Given the description of an element on the screen output the (x, y) to click on. 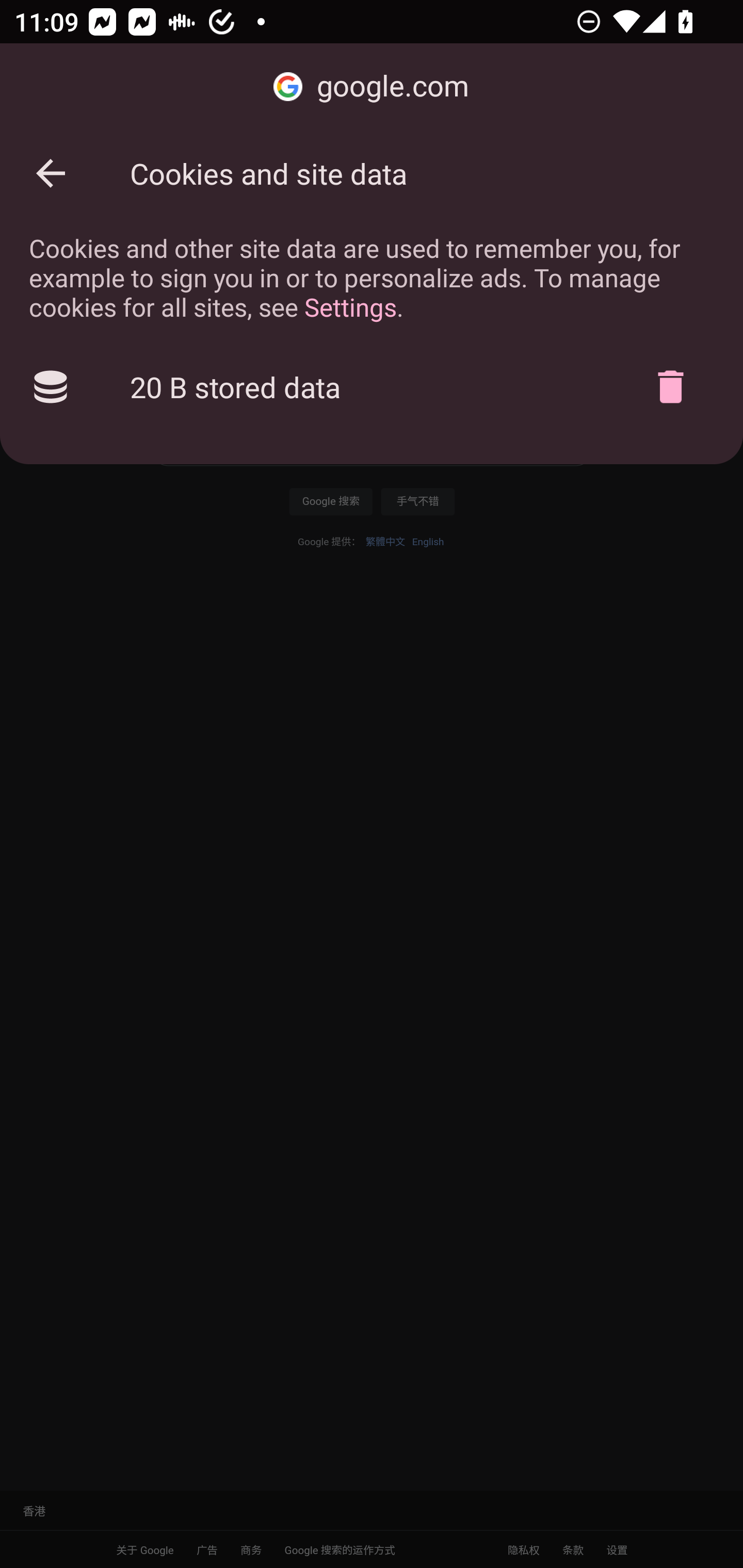
google.com (371, 86)
Back (50, 173)
20 B stored data Delete cookies? (371, 386)
